Given the description of an element on the screen output the (x, y) to click on. 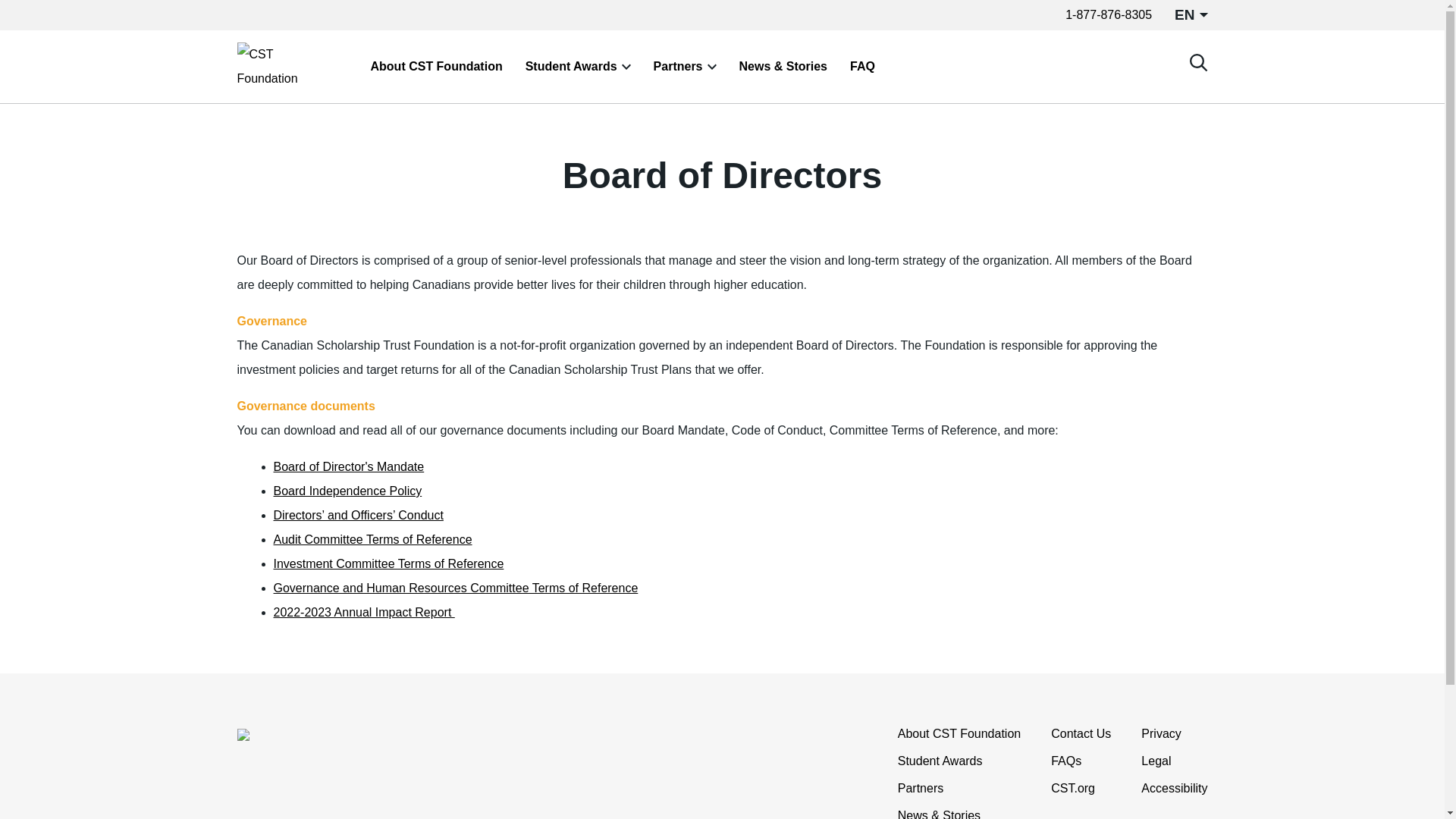
FAQ (862, 66)
Investment Committee Terms of Reference (388, 563)
Board Independence Policy (347, 490)
Partners (678, 66)
Privacy (1160, 733)
Partners (920, 788)
Student Awards (571, 66)
CST.org (1072, 788)
Toggle Search Bar (1198, 62)
1-877-876-8305 (1108, 14)
